Given the description of an element on the screen output the (x, y) to click on. 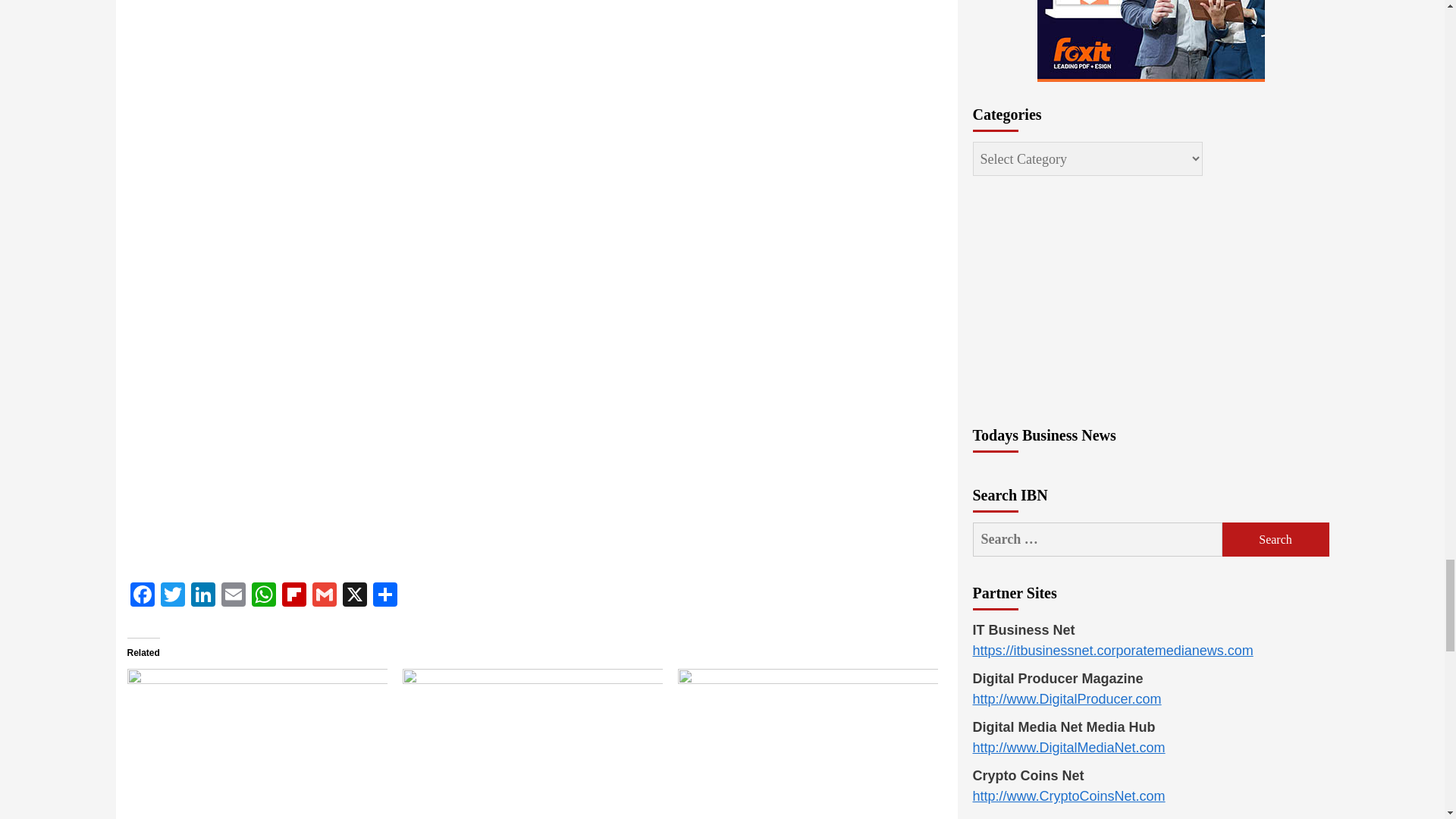
WhatsApp (263, 596)
X (354, 596)
Facebook (142, 596)
LinkedIn (202, 596)
Email (233, 596)
Share (384, 596)
Twitter (172, 596)
Flipboard (293, 596)
Gmail (323, 596)
Facebook (142, 596)
